Given the description of an element on the screen output the (x, y) to click on. 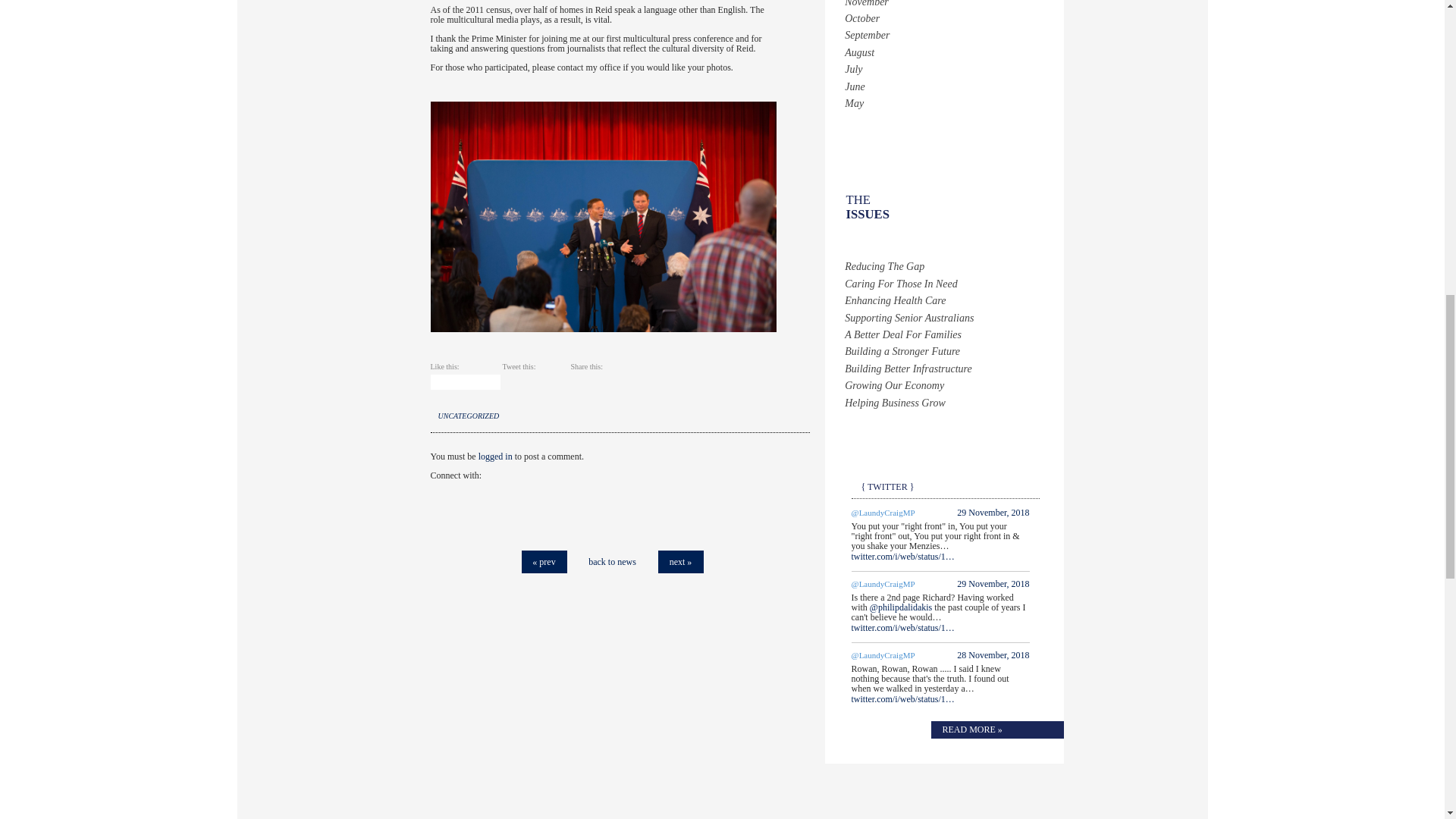
Time posted: 29th Nov 2018 04:30:52 (992, 583)
Time posted: 28th Nov 2018 11:38:57 (992, 655)
Time posted: 29th Nov 2018 23:39:35 (992, 511)
